Given the description of an element on the screen output the (x, y) to click on. 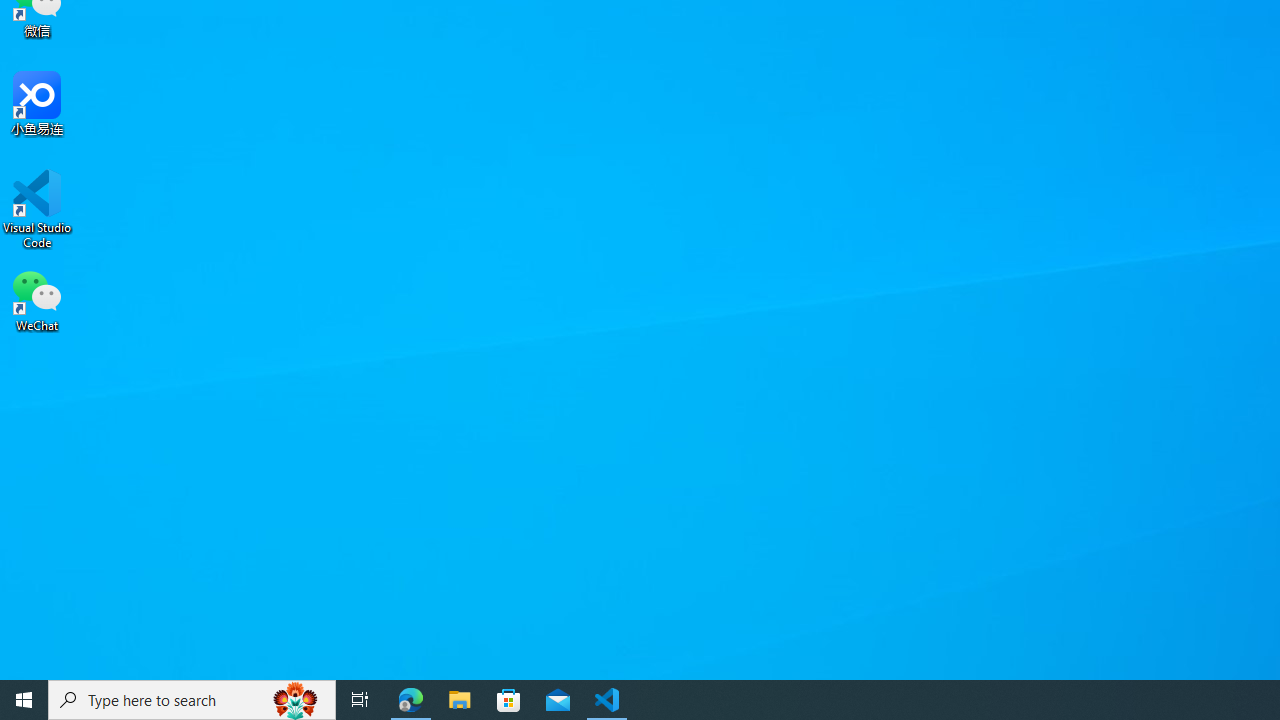
Microsoft Edge - 1 running window (411, 699)
Task View (359, 699)
File Explorer (460, 699)
Start (24, 699)
WeChat (37, 299)
Search highlights icon opens search home window (295, 699)
Microsoft Store (509, 699)
Visual Studio Code (37, 209)
Type here to search (191, 699)
Visual Studio Code - 1 running window (607, 699)
